Given the description of an element on the screen output the (x, y) to click on. 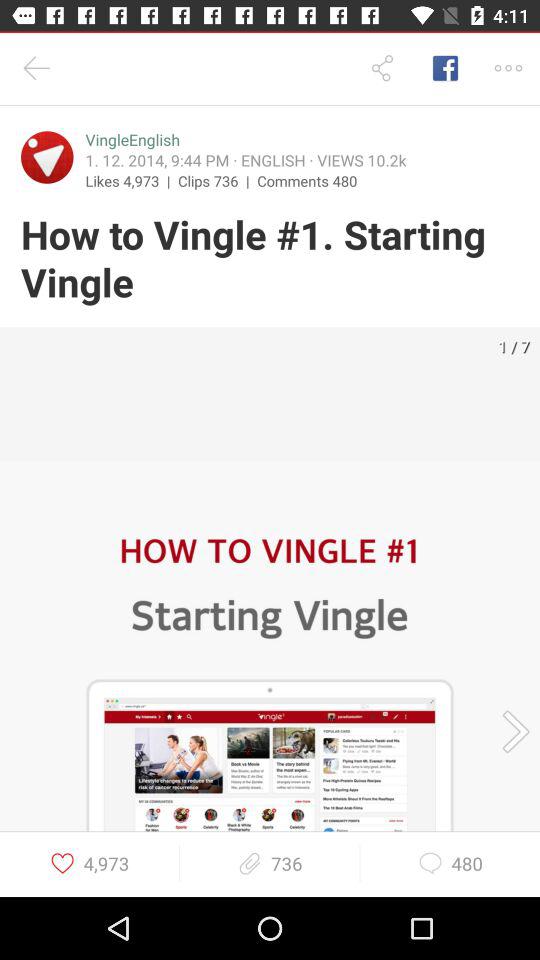
choose how to vingle item (270, 260)
